Given the description of an element on the screen output the (x, y) to click on. 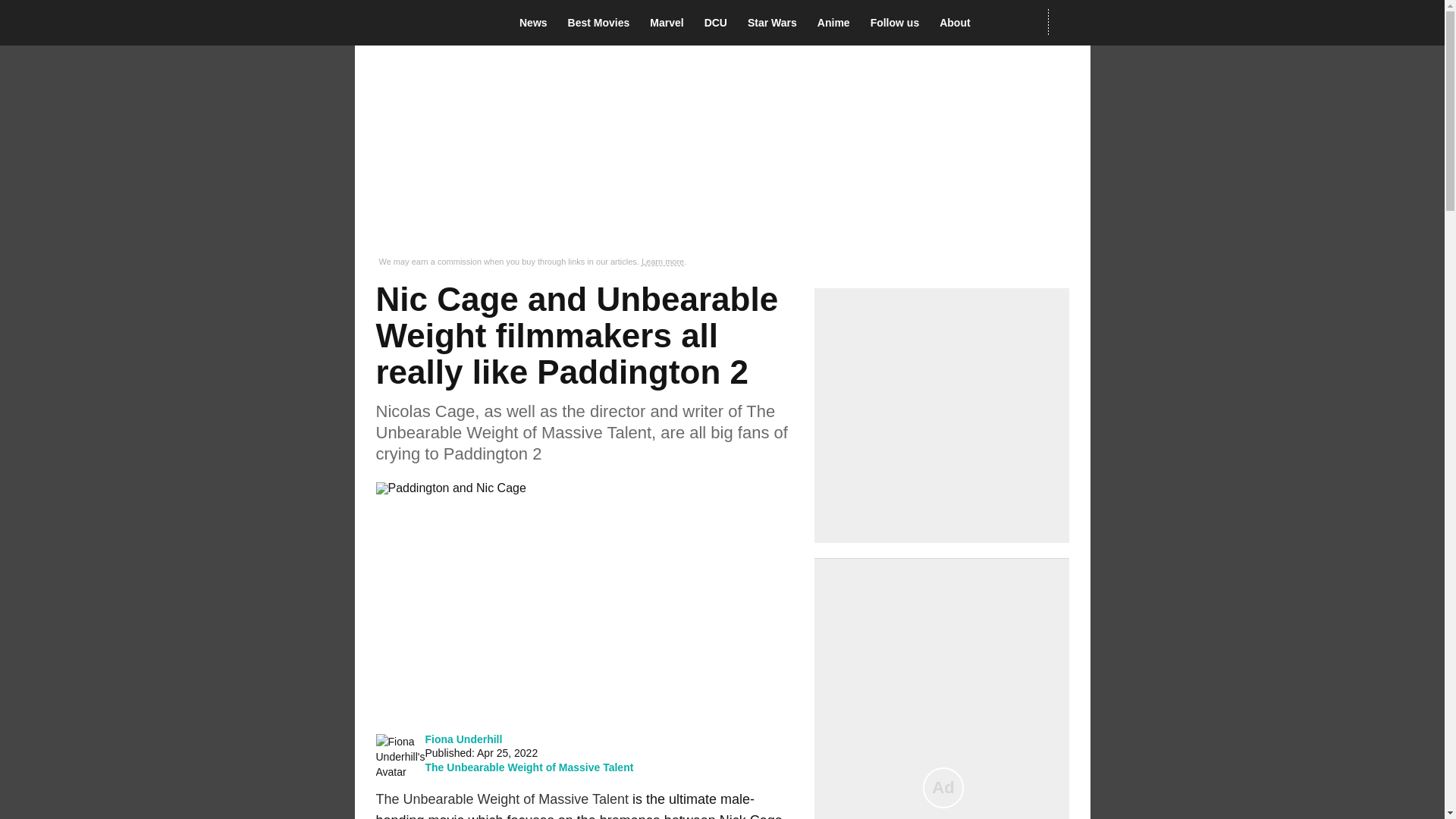
Fiona Underhill (463, 739)
Best Movies (603, 22)
The Unbearable Weight of Massive Talent (529, 767)
TV and Movie News (537, 22)
Marvel (671, 22)
DC Comics Universe News (720, 22)
The Digital Fix (424, 22)
Star Wars (777, 22)
DCU (720, 22)
About (958, 22)
Star Wars News (777, 22)
Anime News (837, 22)
Follow us (899, 22)
Marvel Cinematic Universe News (671, 22)
Anime (837, 22)
